Given the description of an element on the screen output the (x, y) to click on. 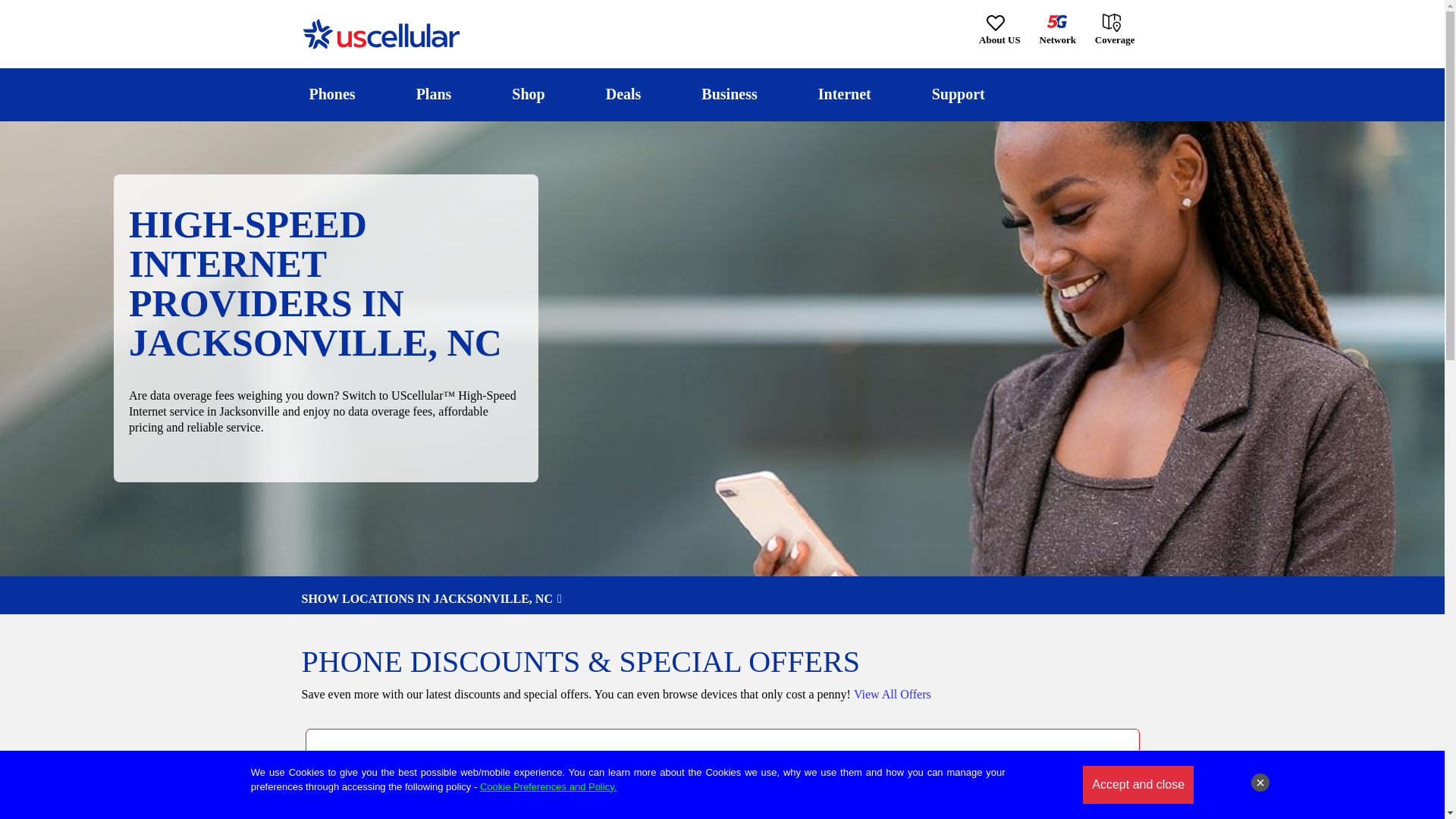
Support (957, 94)
Phones (332, 94)
About US (999, 30)
Business (729, 94)
View All Offers (892, 694)
Shop (528, 94)
SHOW LOCATIONS IN JACKSONVILLE, NC (722, 598)
Coverage (1115, 29)
Plans (433, 94)
Internet (844, 94)
Network (1057, 30)
Deals (623, 94)
